Given the description of an element on the screen output the (x, y) to click on. 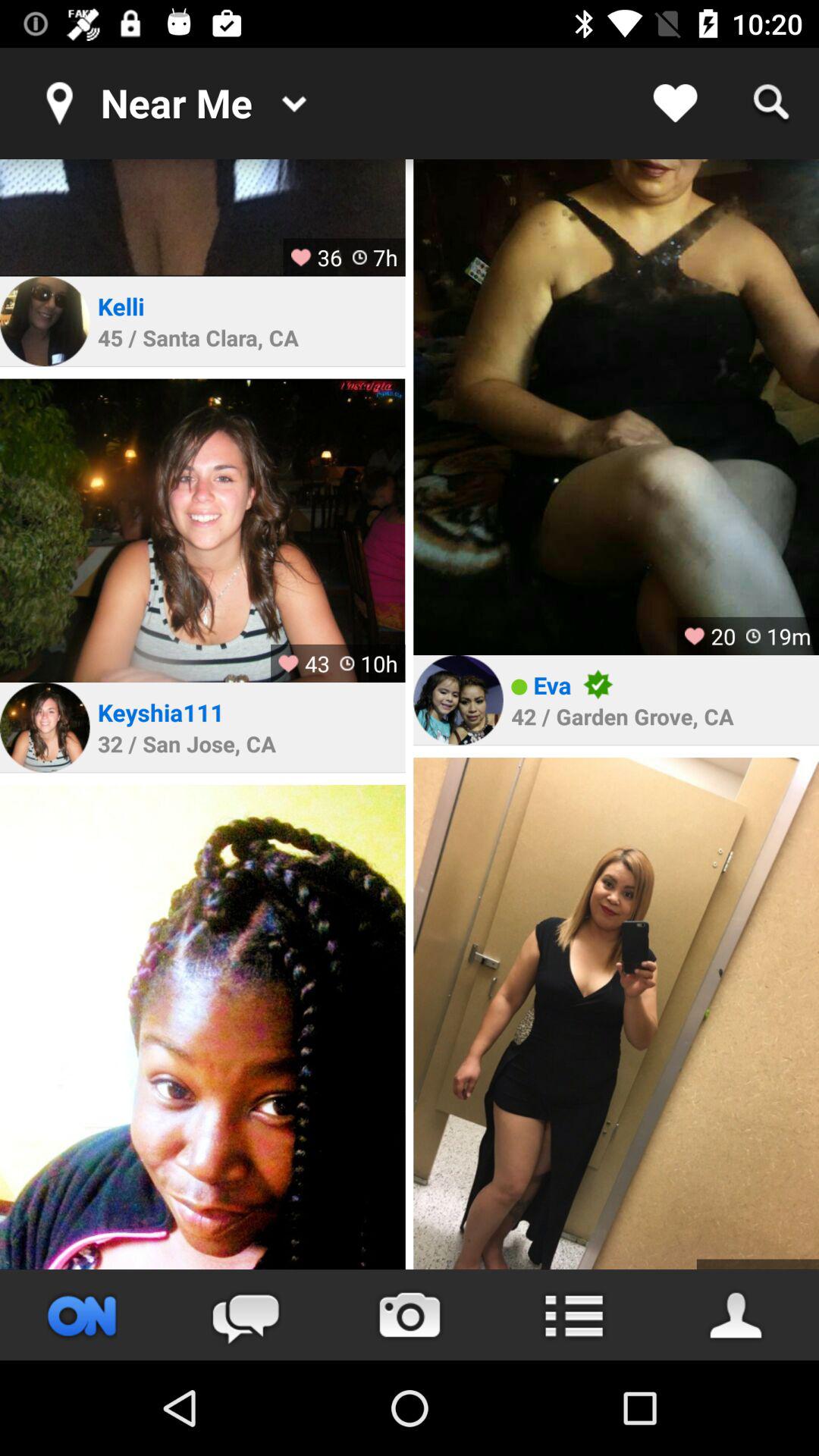
take picture (409, 1315)
